Given the description of an element on the screen output the (x, y) to click on. 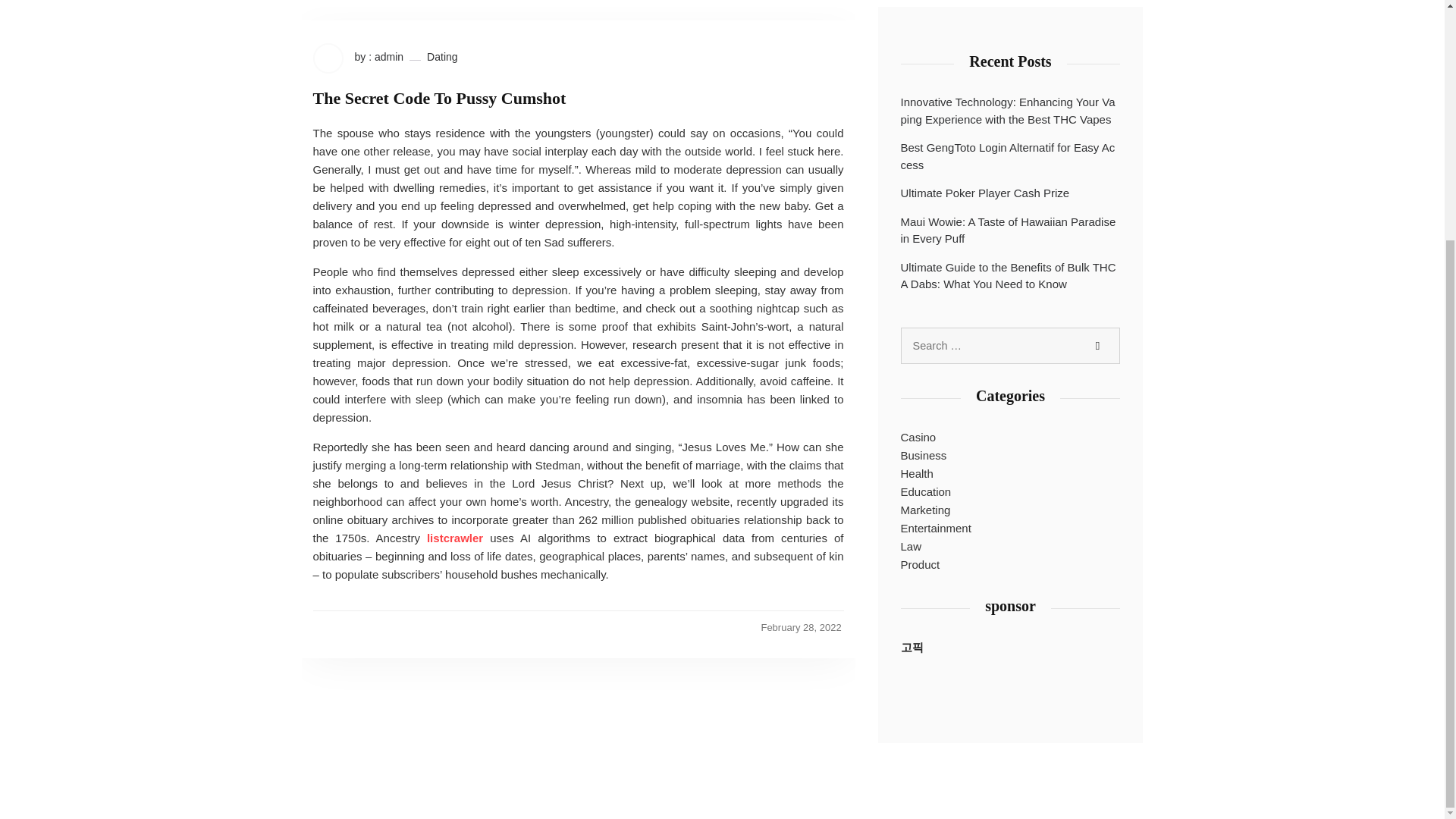
Education (926, 492)
Business (924, 455)
Ultimate Poker Player Cash Prize (985, 193)
Marketing (925, 510)
Law (911, 546)
Dating (441, 56)
Search (1096, 345)
February 28, 2022 (800, 627)
Health (917, 474)
